Given the description of an element on the screen output the (x, y) to click on. 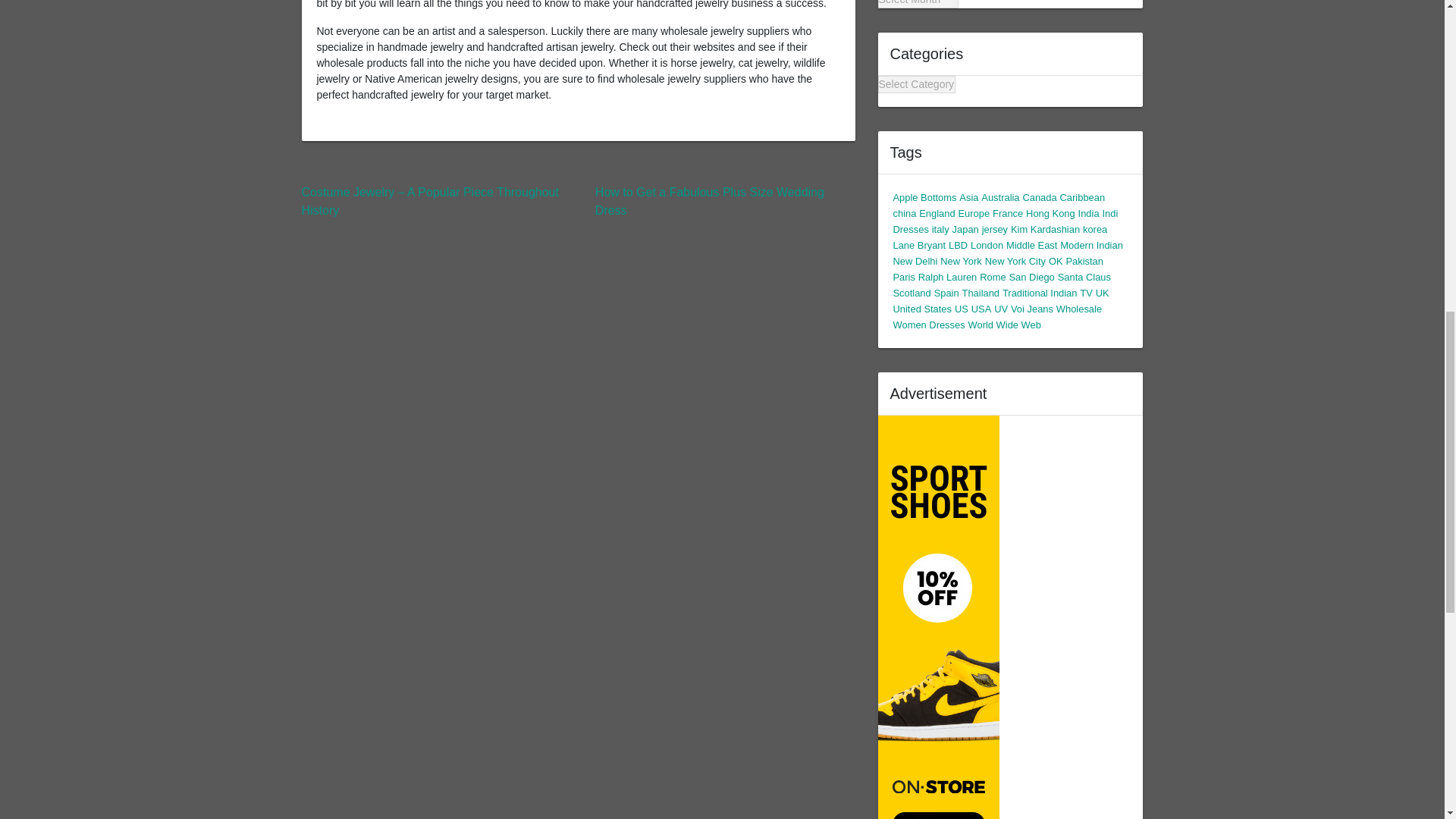
china (905, 213)
How to Get a Fabulous Plus Size Wedding Dress (709, 201)
Canada (1039, 197)
Hong Kong (1050, 213)
Caribbean (1082, 197)
Europe (974, 213)
England (936, 213)
Apple Bottoms (924, 197)
Australia (1000, 197)
France (1007, 213)
Asia (968, 197)
India (1088, 213)
